Given the description of an element on the screen output the (x, y) to click on. 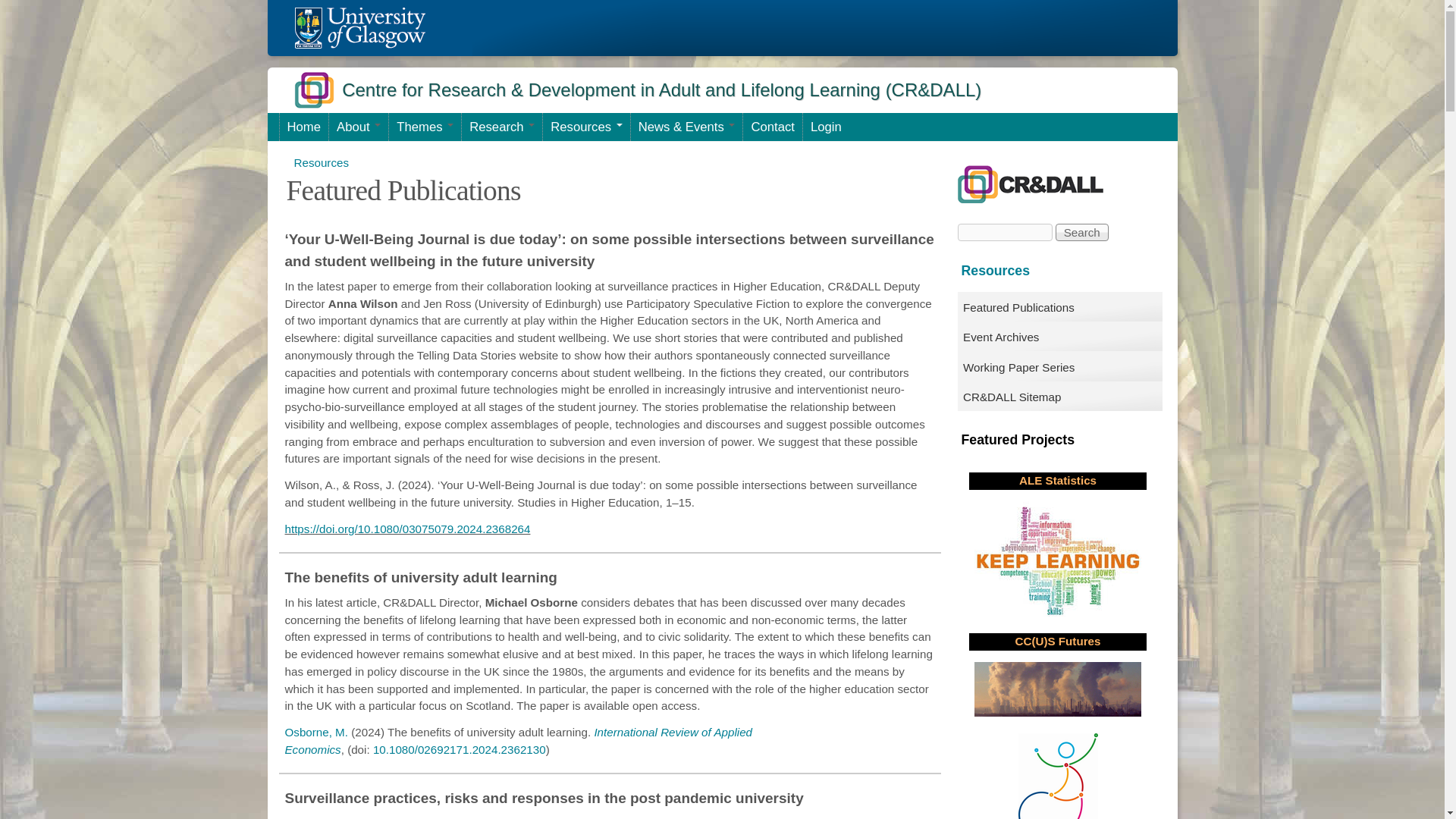
Themes (424, 126)
About (358, 126)
Return to the home page (359, 27)
Themes (424, 126)
About (358, 126)
Resources (584, 126)
Home (304, 126)
Research (501, 126)
UNIVERSITY OF GLASGOW (359, 27)
Search (1081, 231)
